Given the description of an element on the screen output the (x, y) to click on. 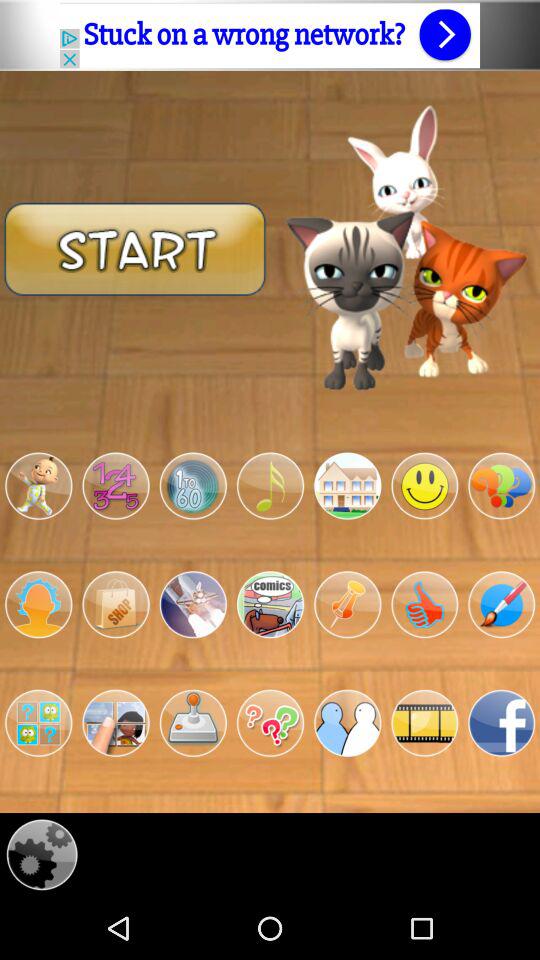
play a game (270, 485)
